Given the description of an element on the screen output the (x, y) to click on. 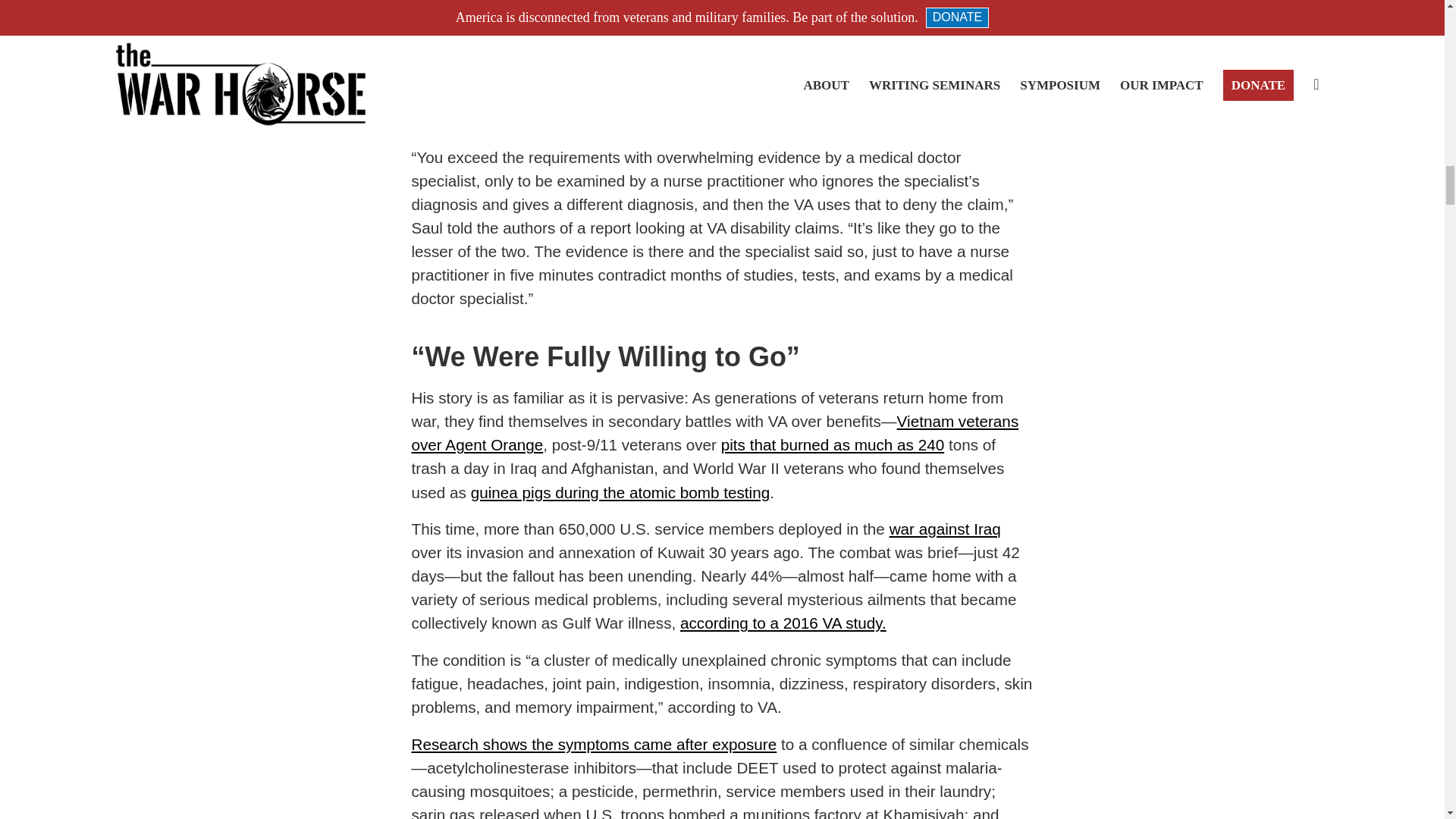
Research shows the symptoms came after exposure (593, 743)
guinea pigs during the atomic bomb testing (620, 492)
war against Iraq (945, 528)
Vietnam veterans over Agent Orange (713, 432)
pits that burned as much as 240 (831, 444)
according to a 2016 VA study. (782, 622)
